Given the description of an element on the screen output the (x, y) to click on. 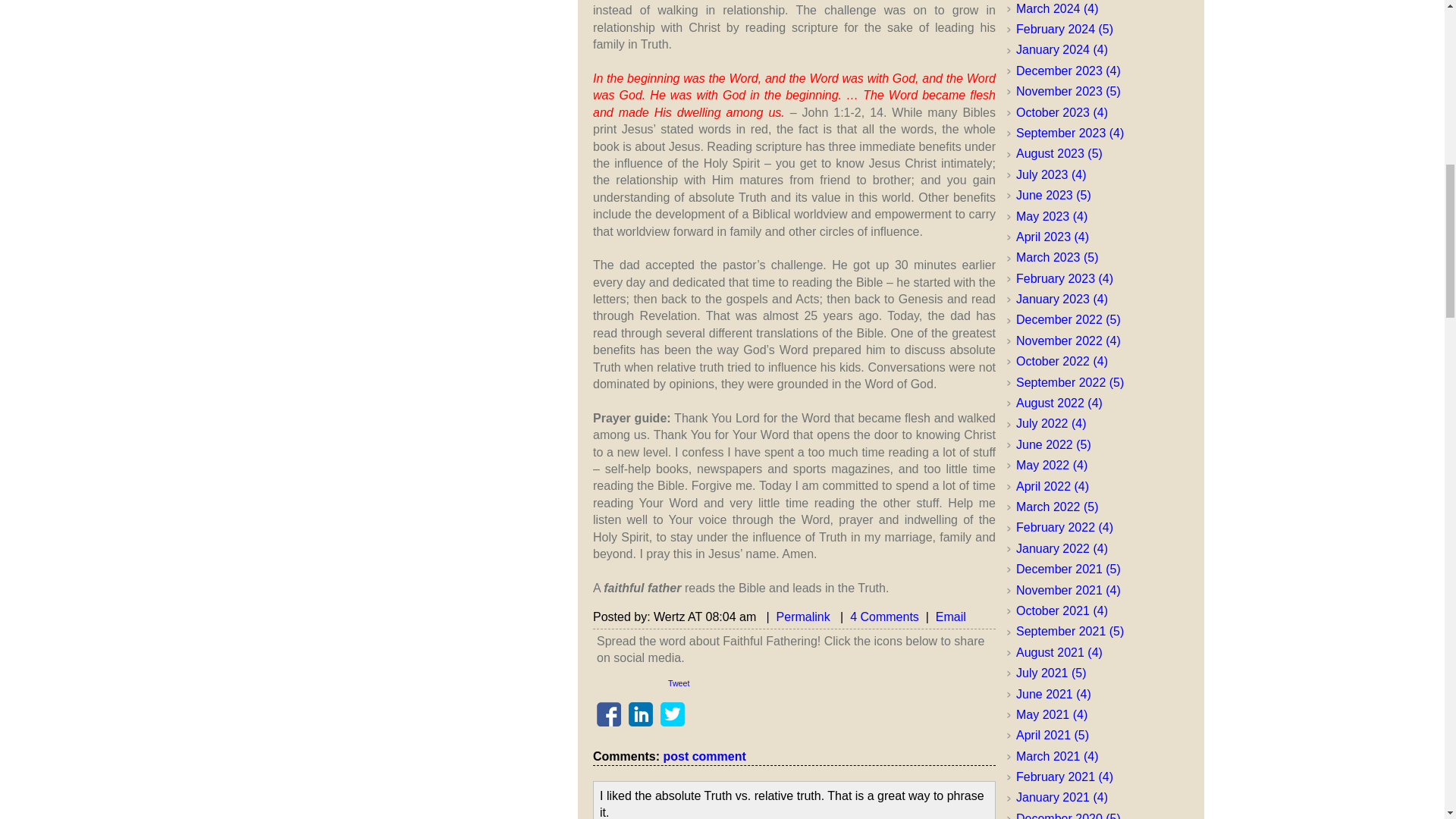
Email (951, 616)
LinkedIn (640, 713)
Tweet (678, 683)
Facebook (608, 713)
post comment (703, 756)
4 Comments (884, 616)
Twitter (672, 713)
Permalink (802, 616)
